Given the description of an element on the screen output the (x, y) to click on. 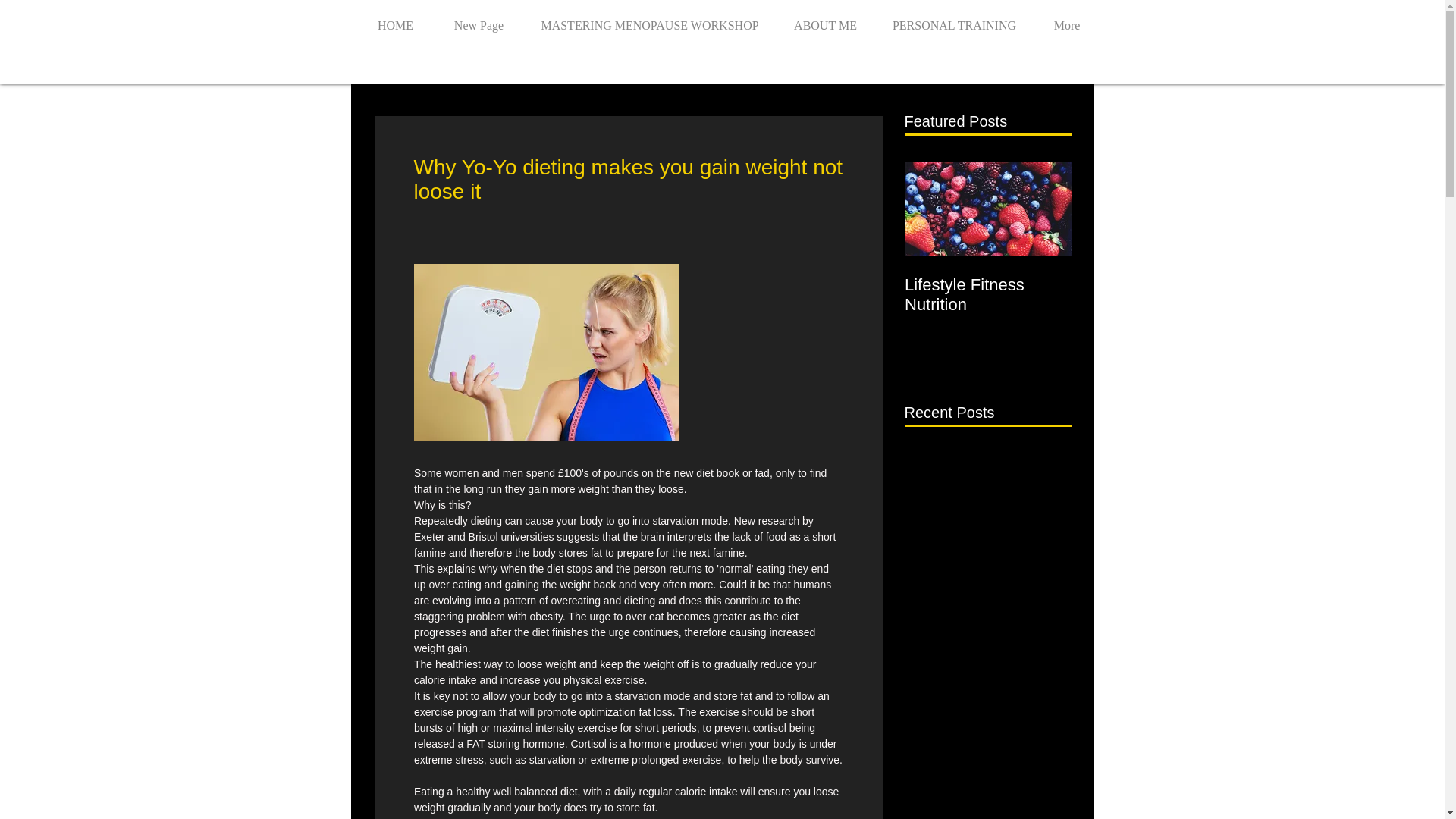
New Page (478, 18)
ABOUT ME (824, 18)
Lifestyle Fitness Nutrition (987, 294)
HOME (395, 18)
MASTERING MENOPAUSE WORKSHOP (650, 18)
PERSONAL TRAINING (953, 18)
